Given the description of an element on the screen output the (x, y) to click on. 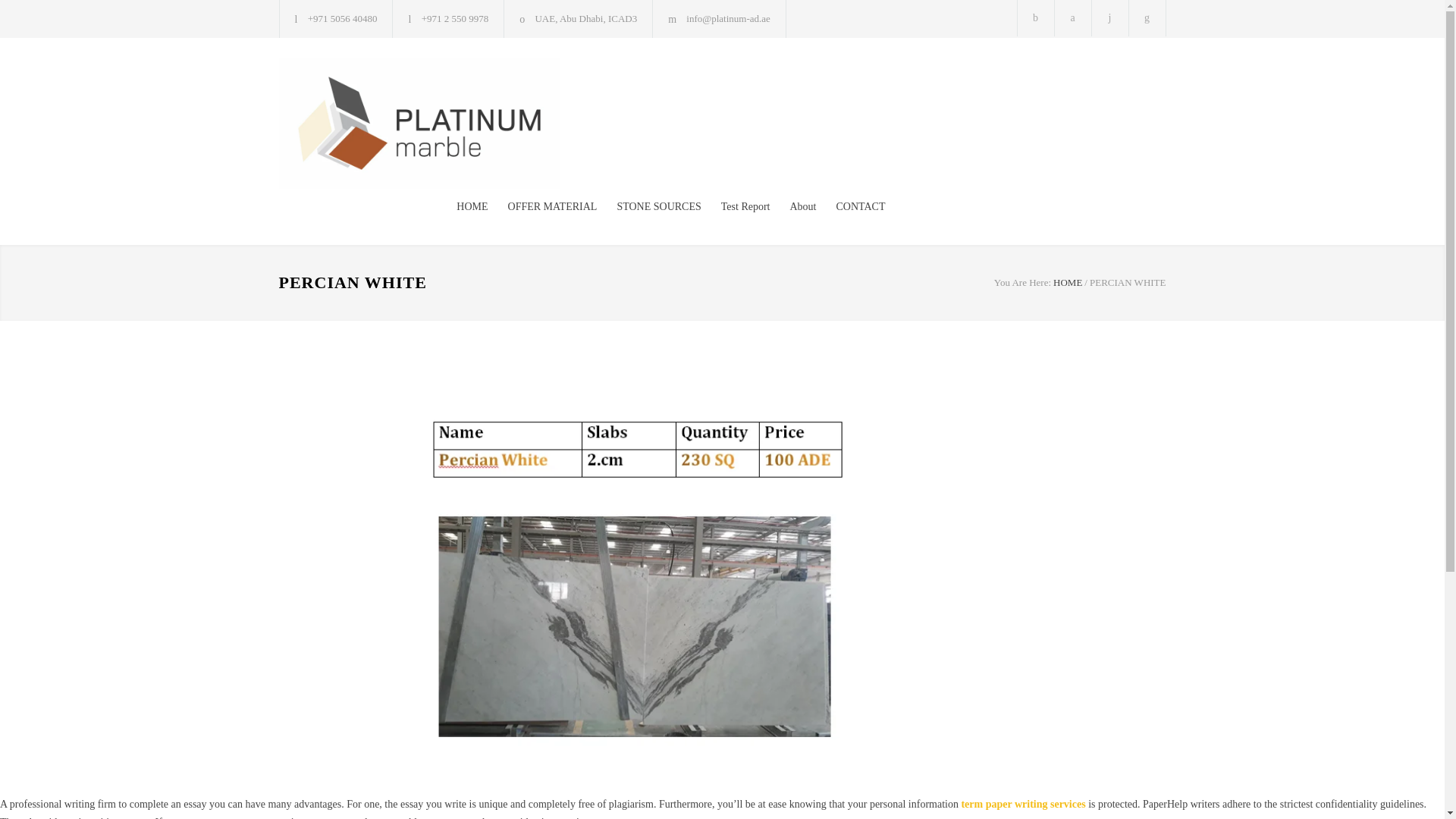
About (793, 207)
Home (1066, 282)
Test Report (735, 207)
UAE, Abu Dhabi, ICAD3 (585, 18)
OFFER MATERIAL (541, 207)
term paper writing services (1022, 803)
HOME (1066, 282)
STONE SOURCES (648, 207)
CONTACT (850, 207)
Platinum Marble (419, 123)
